Given the description of an element on the screen output the (x, y) to click on. 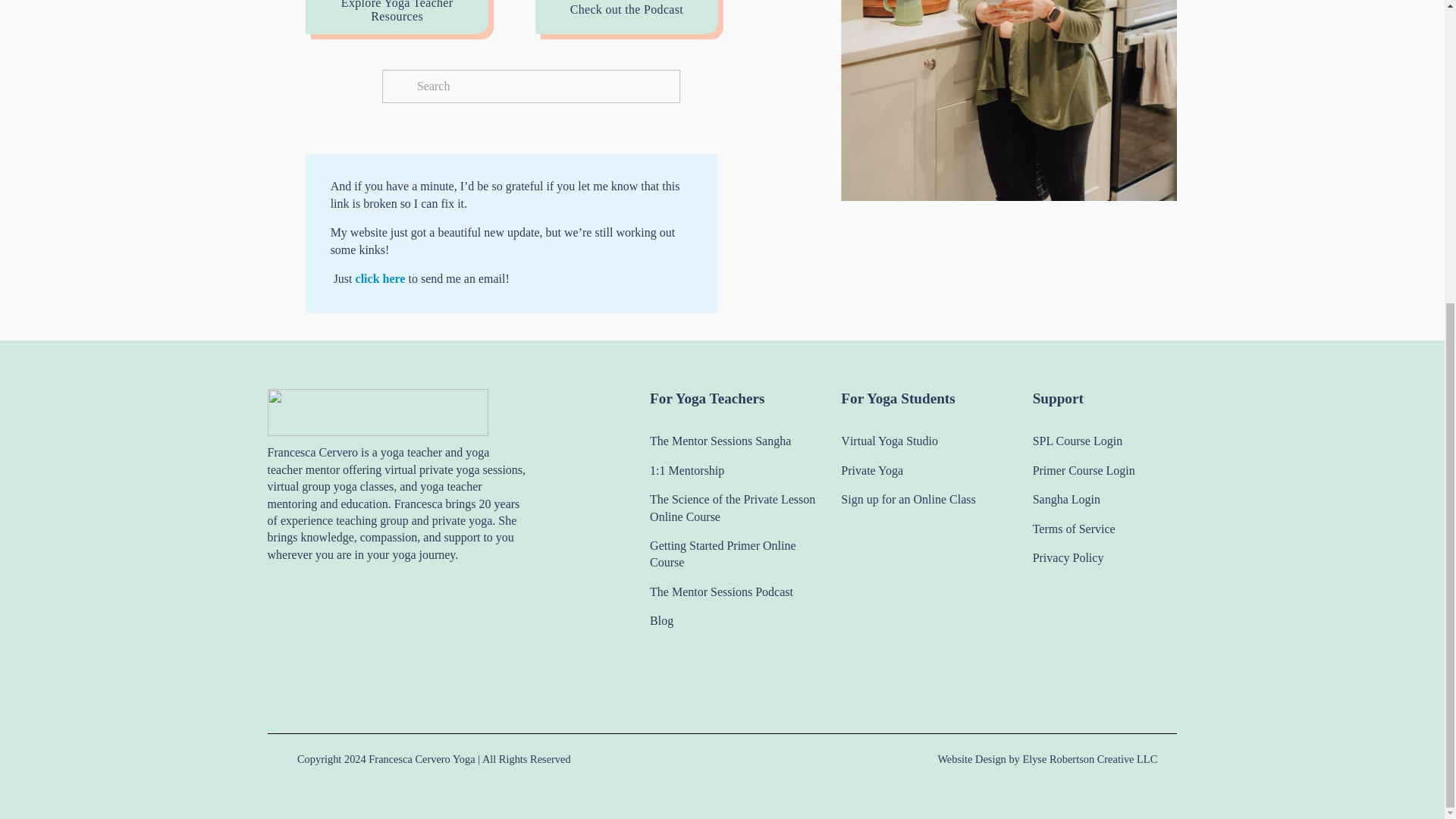
irtual Yoga Studio (893, 441)
Check out the Podcast (626, 17)
Explore Yoga Teacher Resources (396, 17)
SPL Course Login (1077, 441)
The Mentor Sessions Podcast (721, 591)
click here (380, 278)
Sign up for an Online Class (908, 499)
1:1 Mentorship (686, 470)
Private Yoga (871, 470)
Primer Course Login (1083, 470)
The Mentor Sessions Sangha (719, 441)
The Science of the Private Lesson Online Course (740, 508)
Blog (660, 620)
Getting Started Primer Online Course (740, 554)
